Given the description of an element on the screen output the (x, y) to click on. 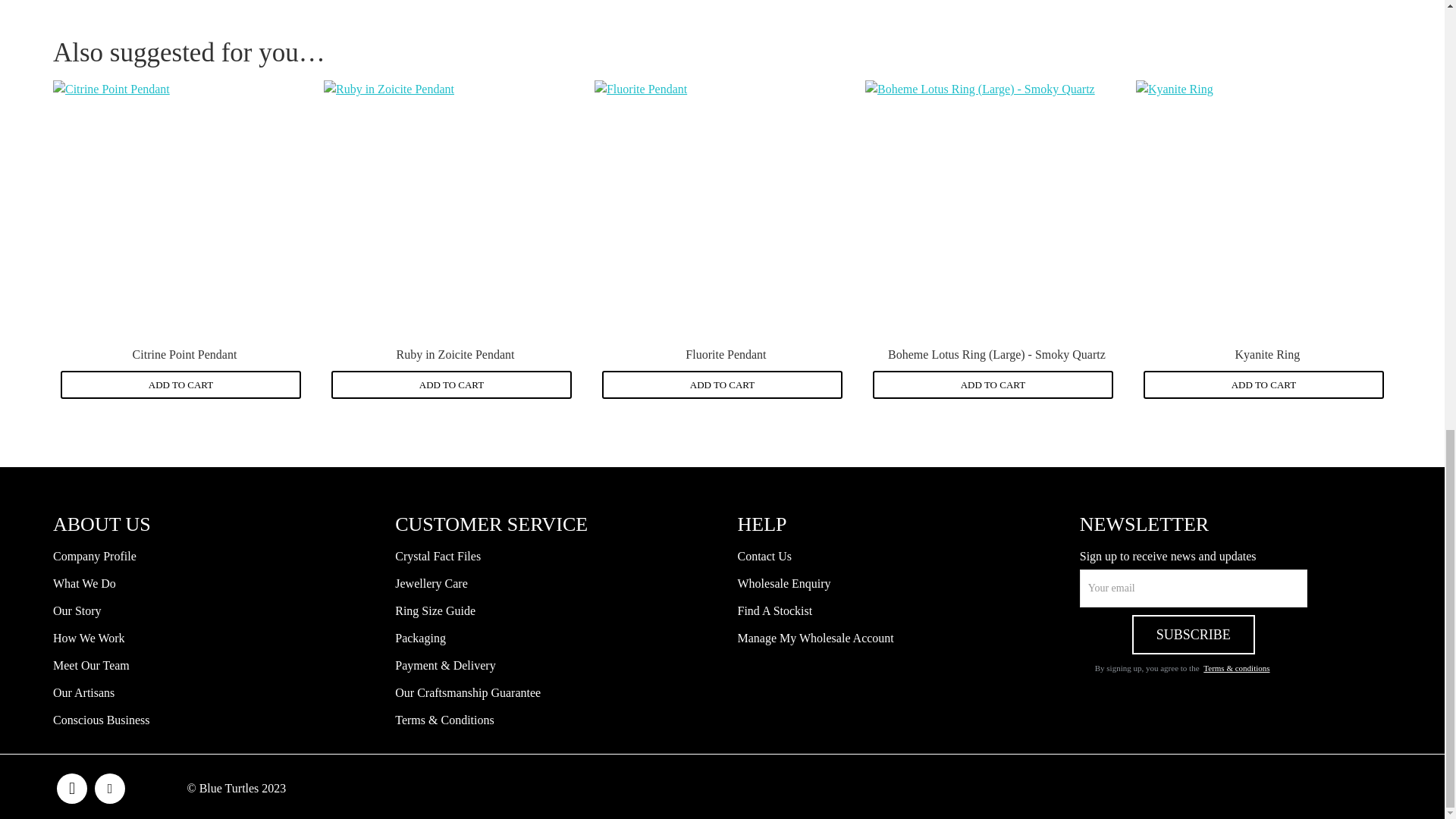
Fluorite Pendant (722, 207)
Ruby in Zoicite Pendant (451, 207)
Citrine Point Pendant (180, 207)
